Given the description of an element on the screen output the (x, y) to click on. 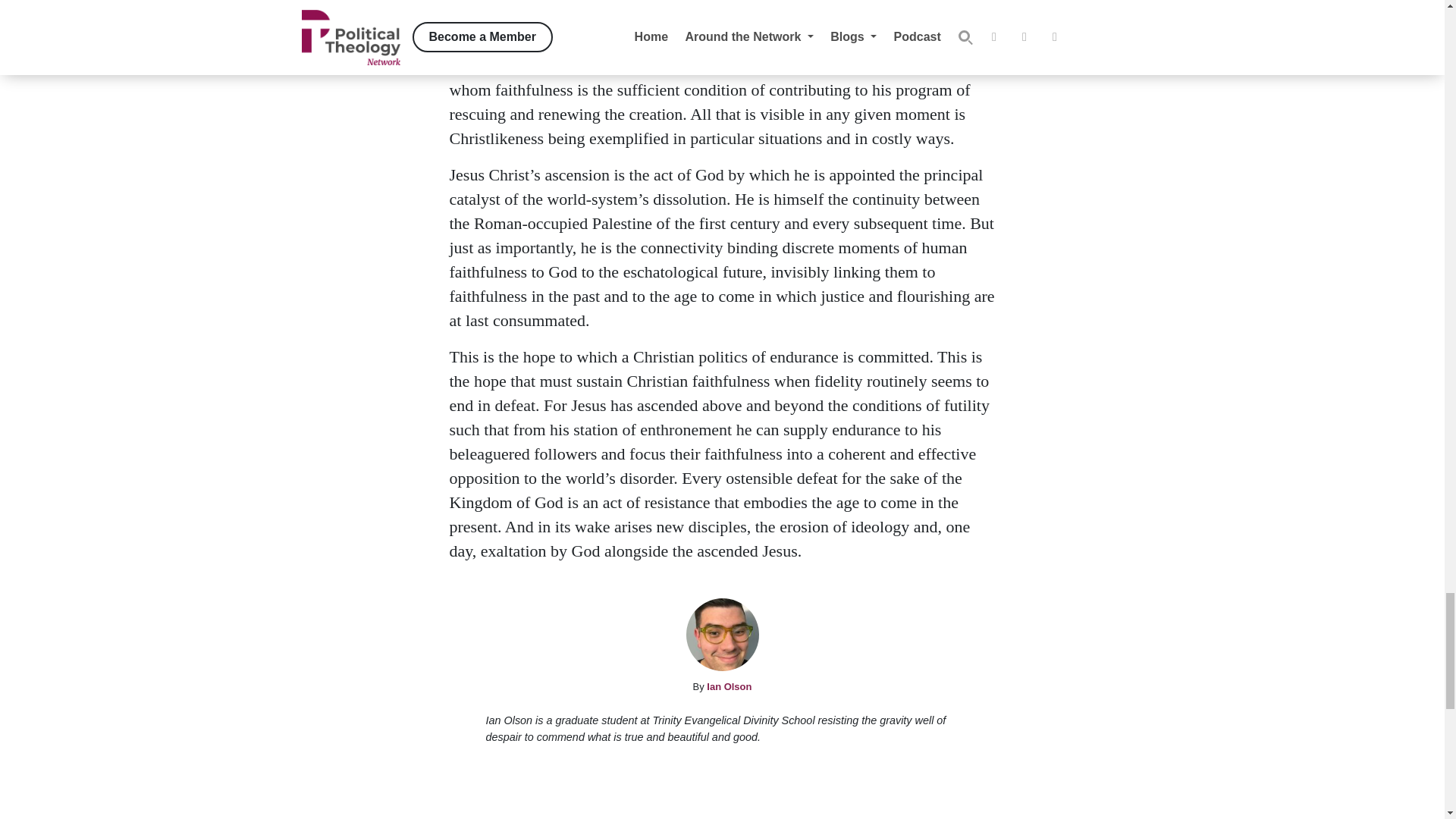
Ian Olson (728, 686)
